Given the description of an element on the screen output the (x, y) to click on. 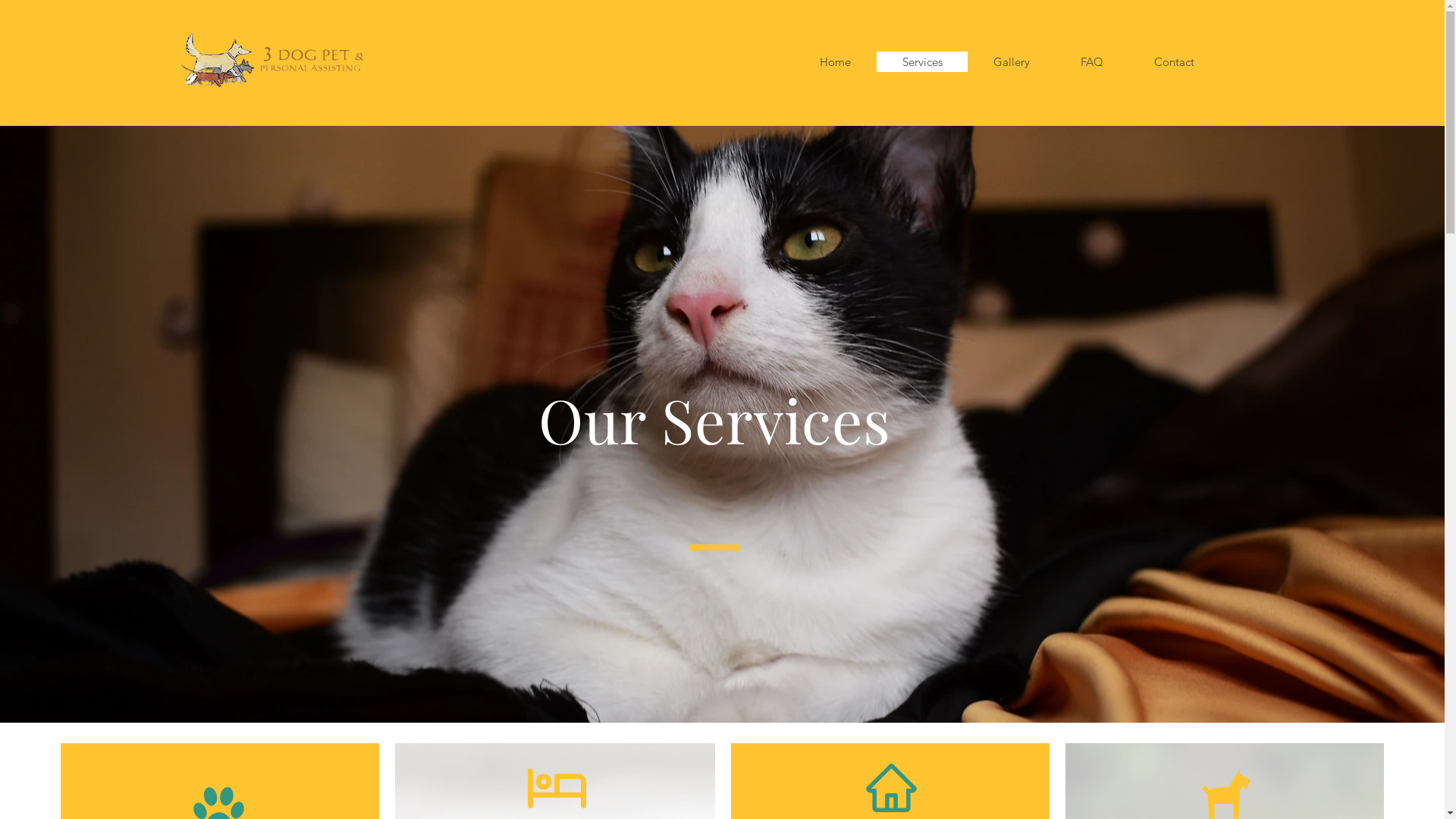
Home Element type: text (835, 61)
FAQ Element type: text (1091, 61)
Services Element type: text (921, 61)
Gallery Element type: text (1010, 61)
Contact Element type: text (1173, 61)
